Given the description of an element on the screen output the (x, y) to click on. 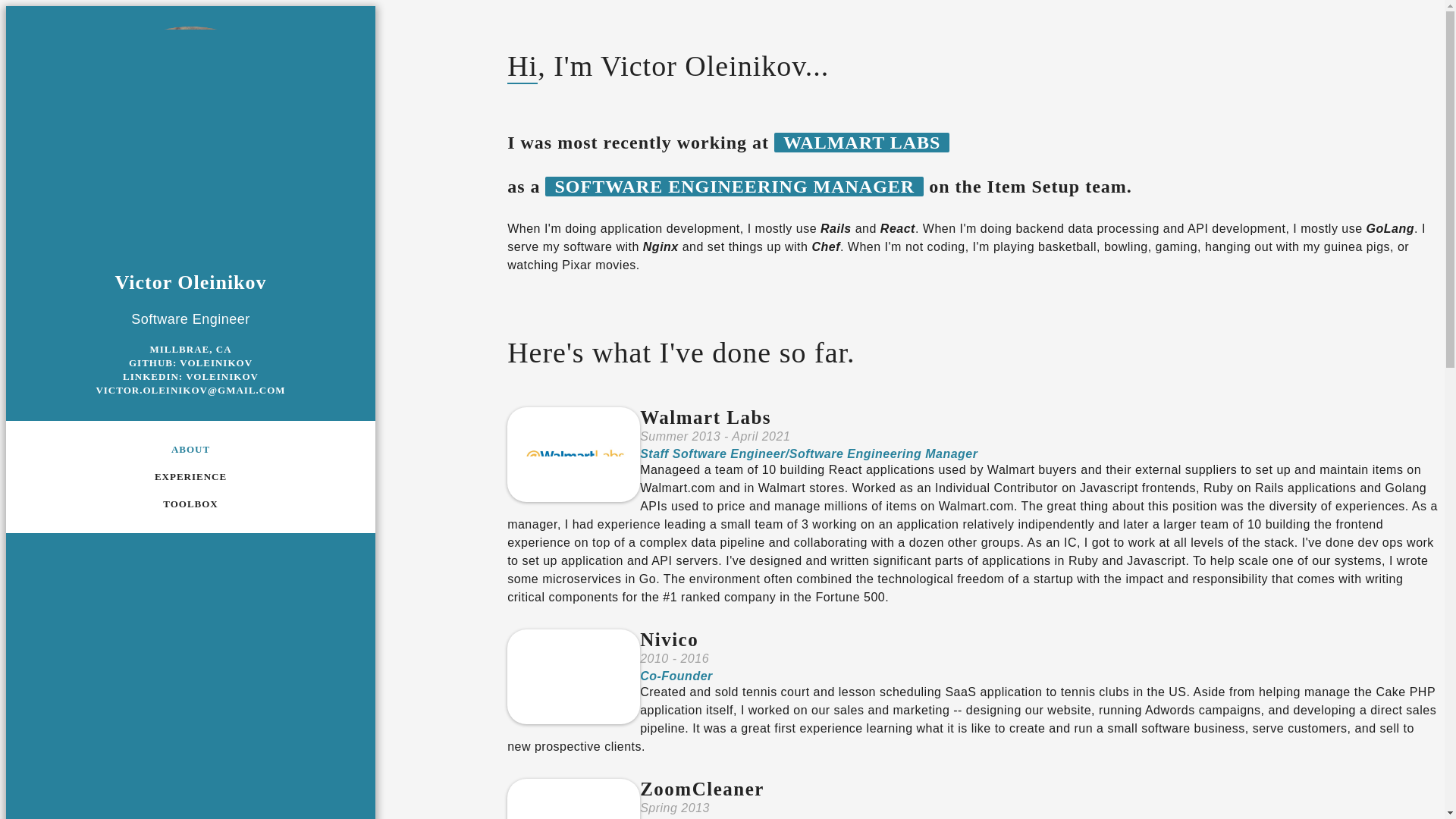
GITHUB: VOLEINIKOV (190, 362)
TOOLBOX (190, 503)
ABOUT (190, 449)
LINKEDIN: VOLEINIKOV (190, 376)
EXPERIENCE (190, 476)
